Given the description of an element on the screen output the (x, y) to click on. 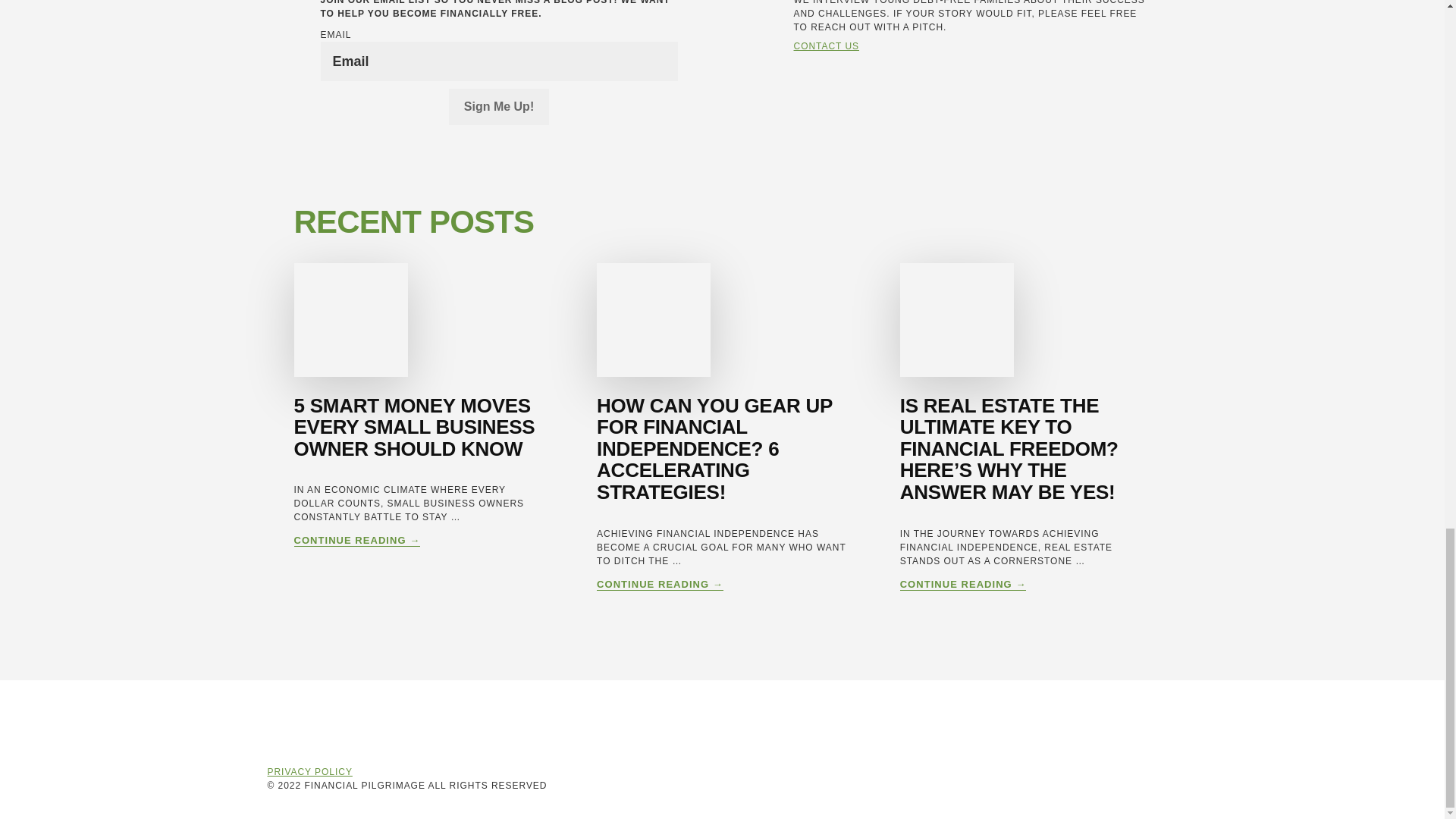
PRIVACY POLICY (309, 771)
5 SMART MONEY MOVES EVERY SMALL BUSINESS OWNER SHOULD KNOW (414, 426)
Sign Me Up! (498, 106)
CONTACT US (826, 45)
